Given the description of an element on the screen output the (x, y) to click on. 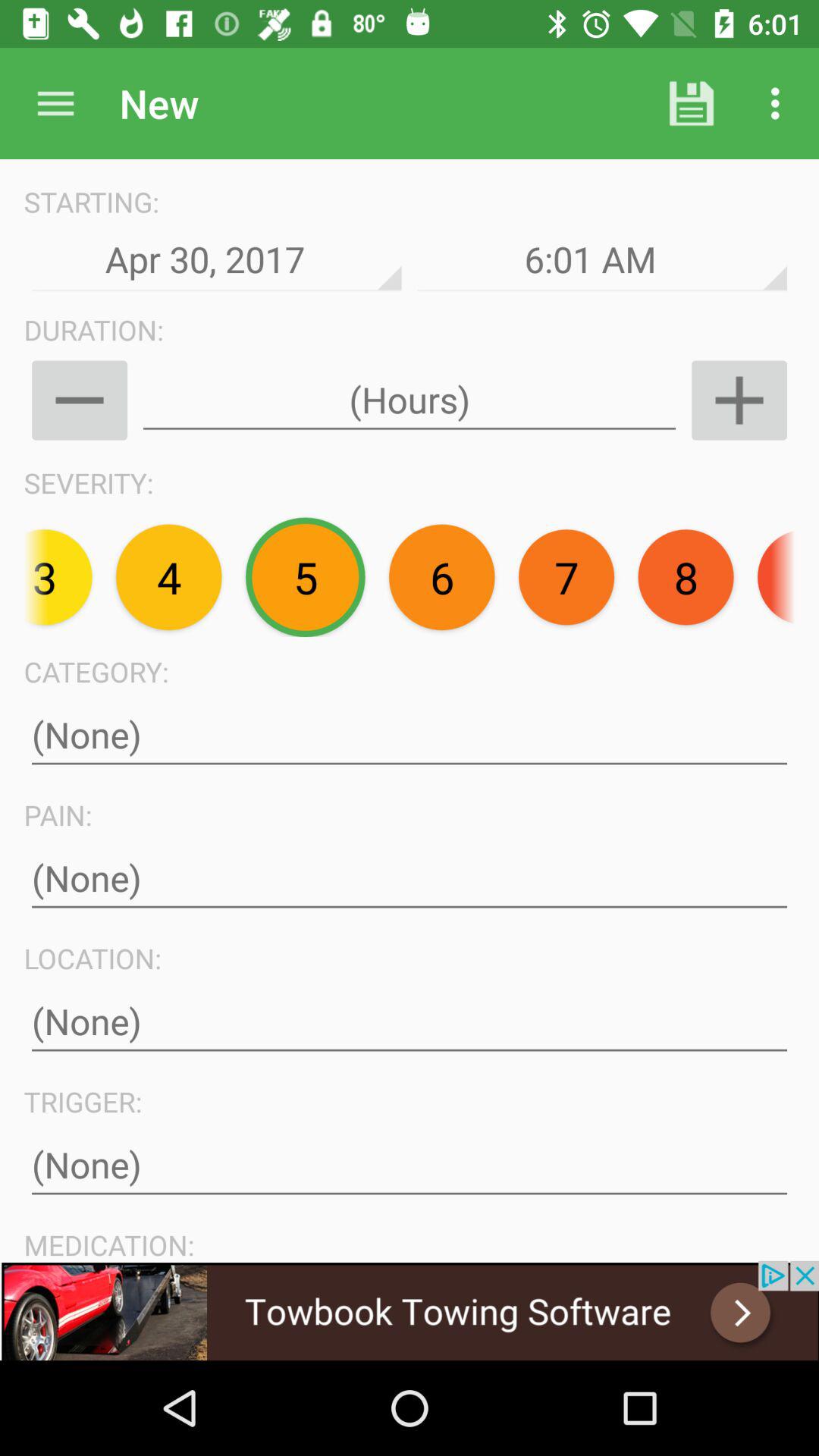
zoom (79, 400)
